Given the description of an element on the screen output the (x, y) to click on. 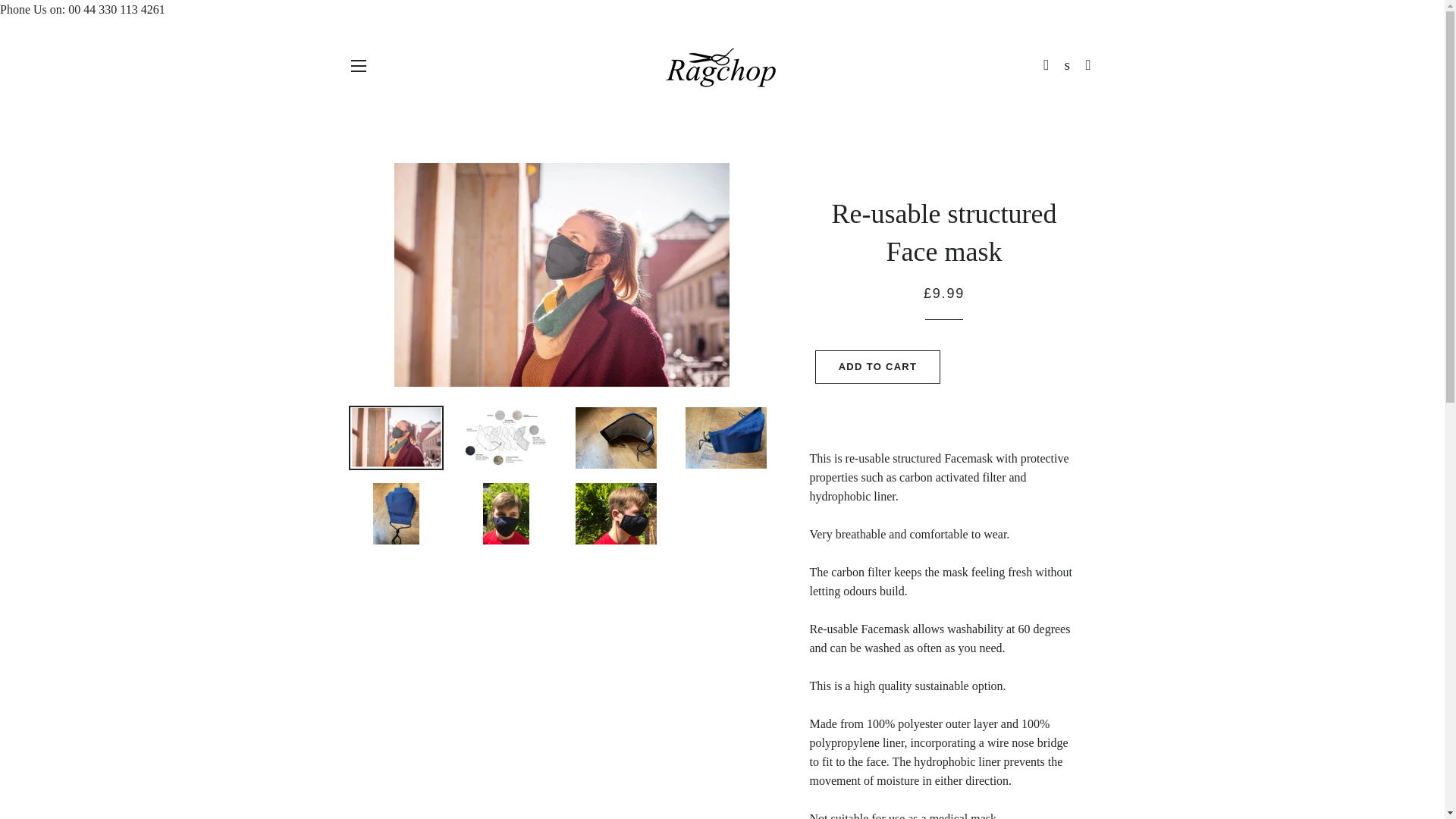
Phone Us on: 00 44 330 113 4261 (82, 9)
SITE NAVIGATION (358, 65)
